Given the description of an element on the screen output the (x, y) to click on. 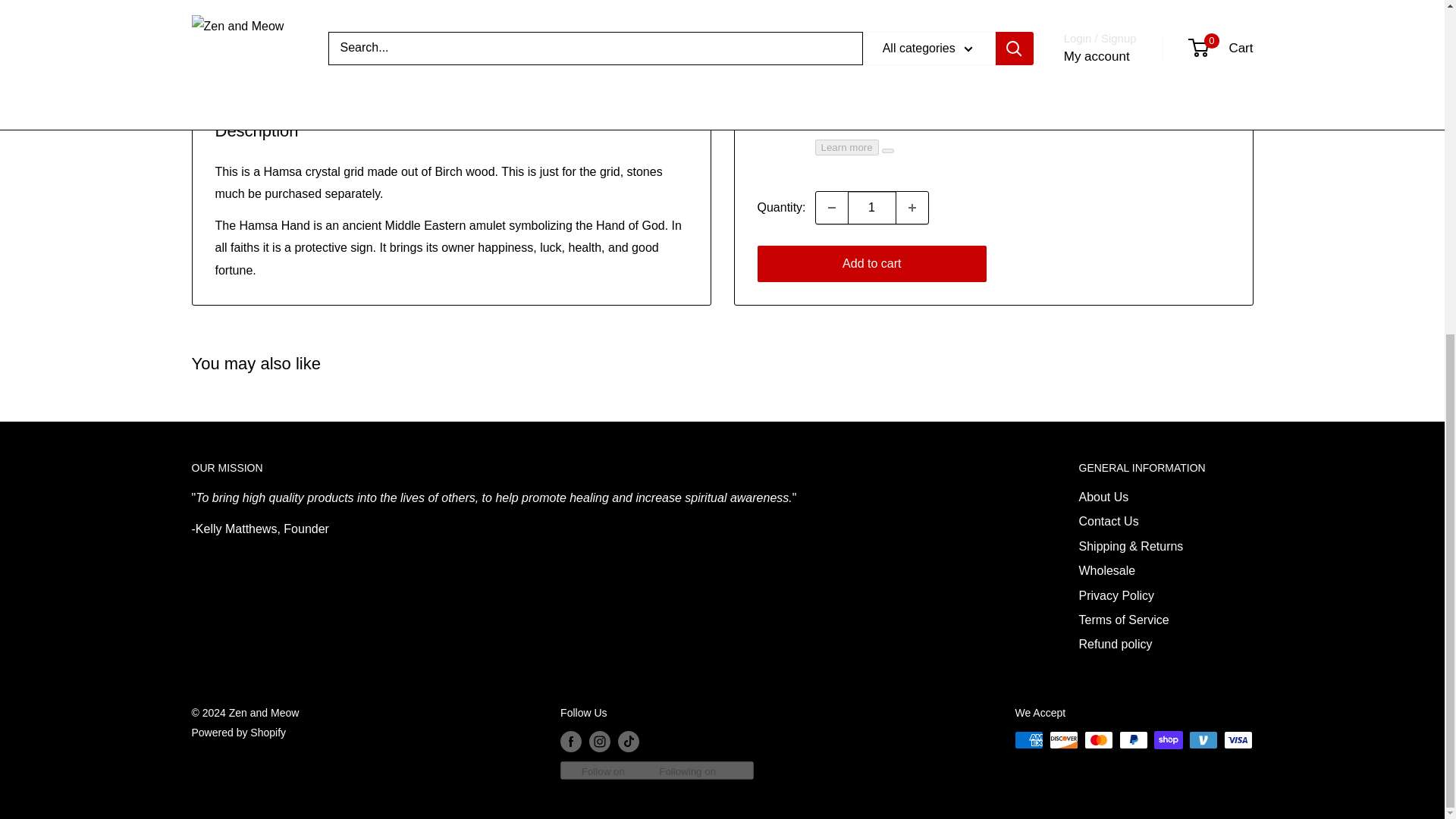
1 (871, 135)
Increase quantity by 1 (912, 135)
Decrease quantity by 1 (831, 135)
